Given the description of an element on the screen output the (x, y) to click on. 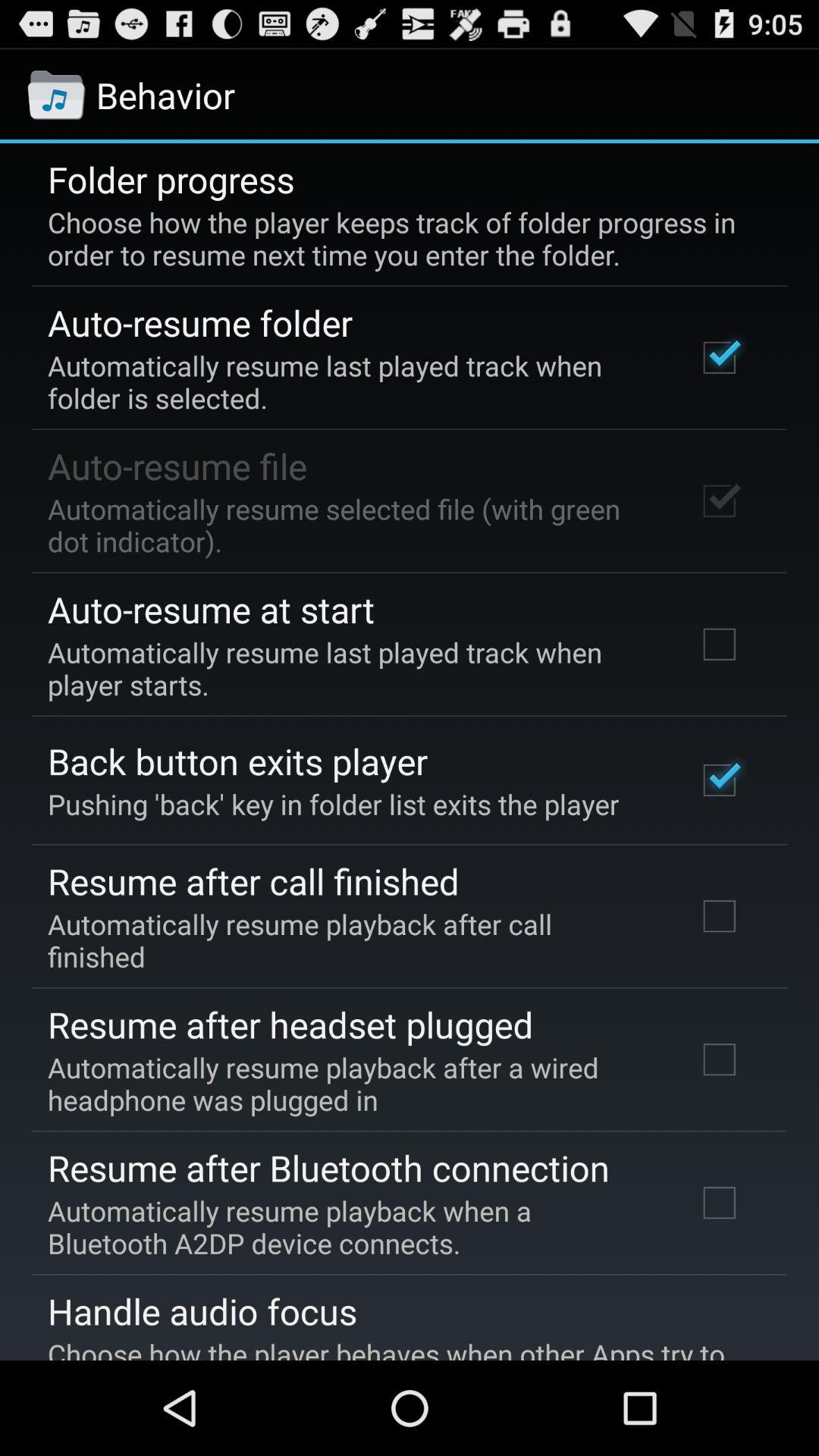
turn on handle audio focus at the bottom left corner (202, 1311)
